Given the description of an element on the screen output the (x, y) to click on. 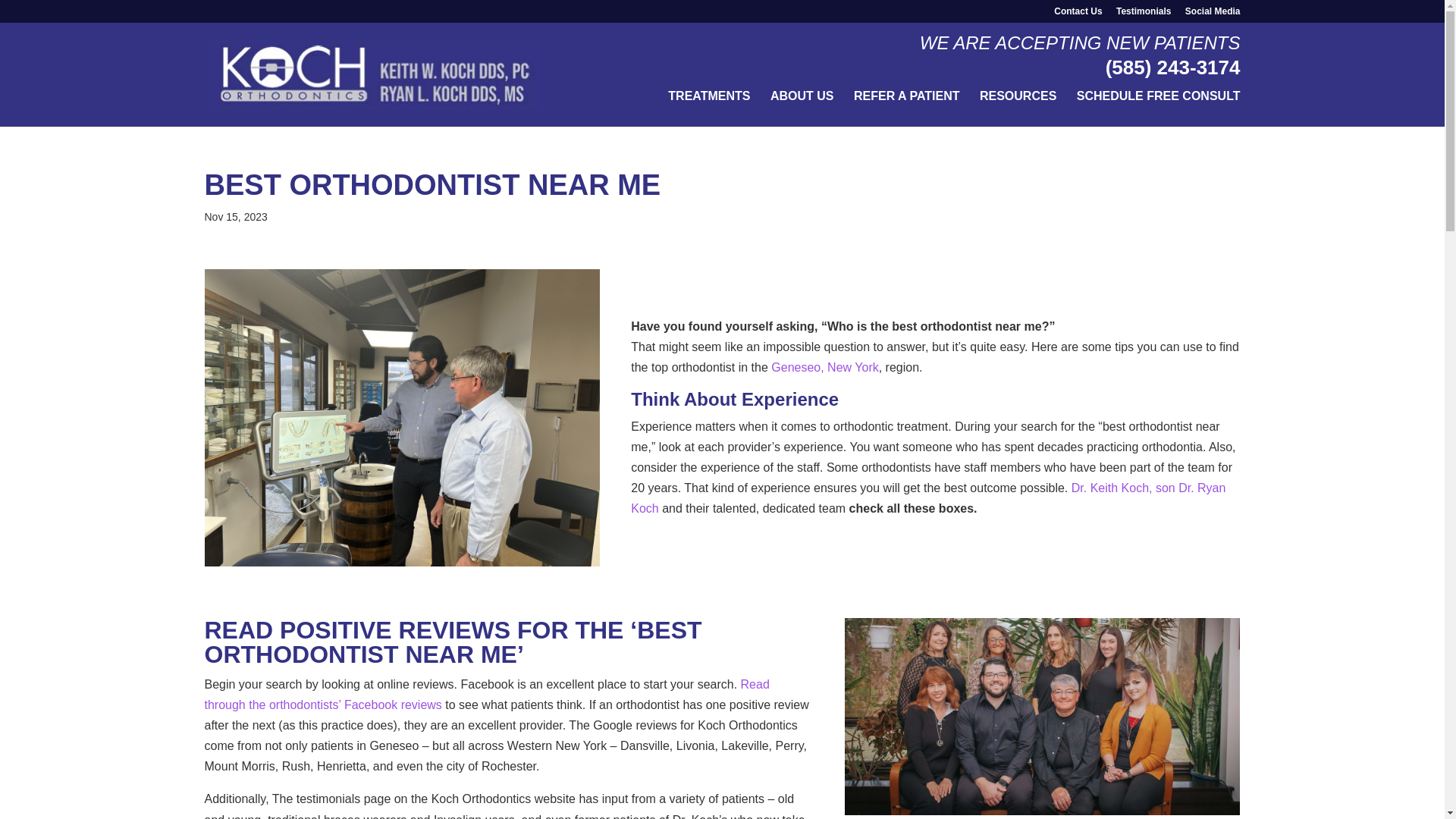
RESOURCES (1018, 108)
Contact Us (1078, 14)
SCHEDULE FREE CONSULT (1158, 108)
TREATMENTS (708, 108)
REFER A PATIENT (906, 108)
Social Media (1212, 14)
Dr. Keith Koch, son Dr. Ryan Koch (927, 498)
F983AF42-3FCD-435B-849E-F536FA21E596 (402, 417)
Testimonials (1143, 14)
Geneseo, New York (824, 367)
